Given the description of an element on the screen output the (x, y) to click on. 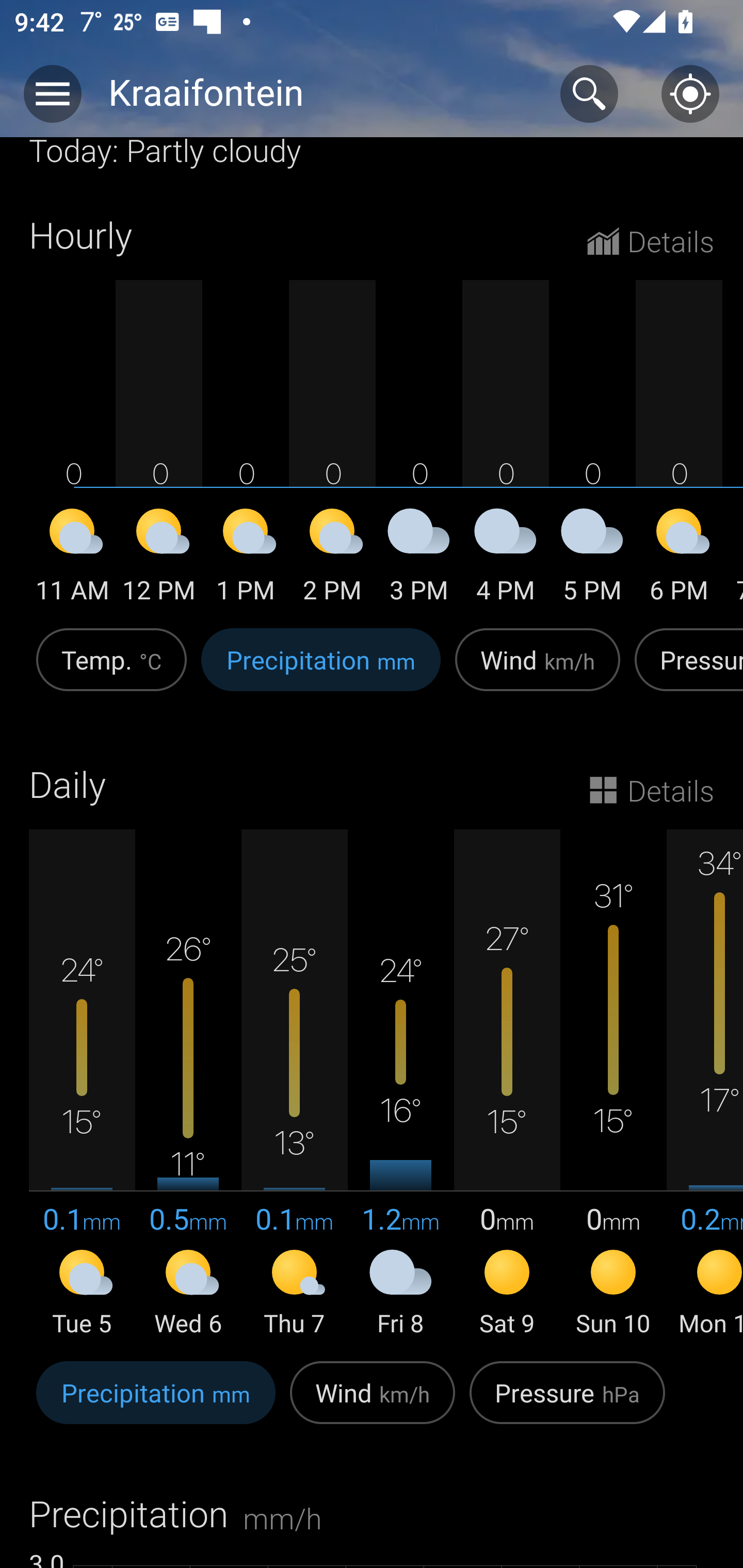
11 AM (71, 558)
12 PM (158, 558)
1 PM (245, 558)
2 PM (332, 558)
3 PM (418, 558)
4 PM (505, 558)
5 PM (592, 558)
6 PM (679, 558)
Temp. °C (110, 669)
Precipitation mm (320, 669)
Wind km/h (537, 669)
Pressure (685, 669)
24° 15° 0.1 mm Tue 5 (81, 1084)
26° 11° 0.5 mm Wed 6 (188, 1084)
25° 13° 0.1 mm Thu 7 (294, 1084)
24° 16° 1.2 mm Fri 8 (400, 1084)
27° 15° 0 mm Sat 9 (506, 1084)
31° 15° 0 mm Sun 10 (613, 1084)
34° 17° 0.2 mm Mon 11 (704, 1084)
Precipitation mm (155, 1403)
Wind km/h (372, 1403)
Pressure hPa (567, 1403)
